Given the description of an element on the screen output the (x, y) to click on. 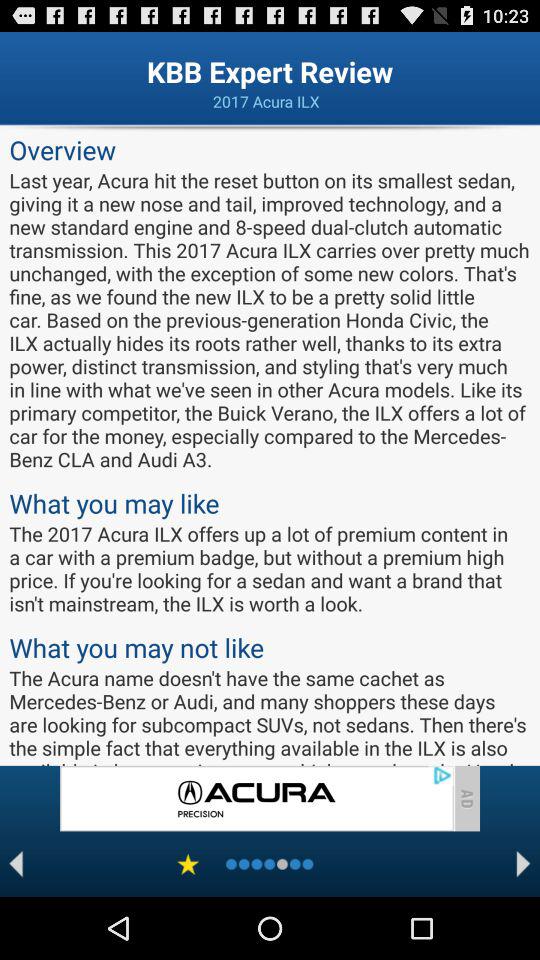
favorite (188, 864)
